Given the description of an element on the screen output the (x, y) to click on. 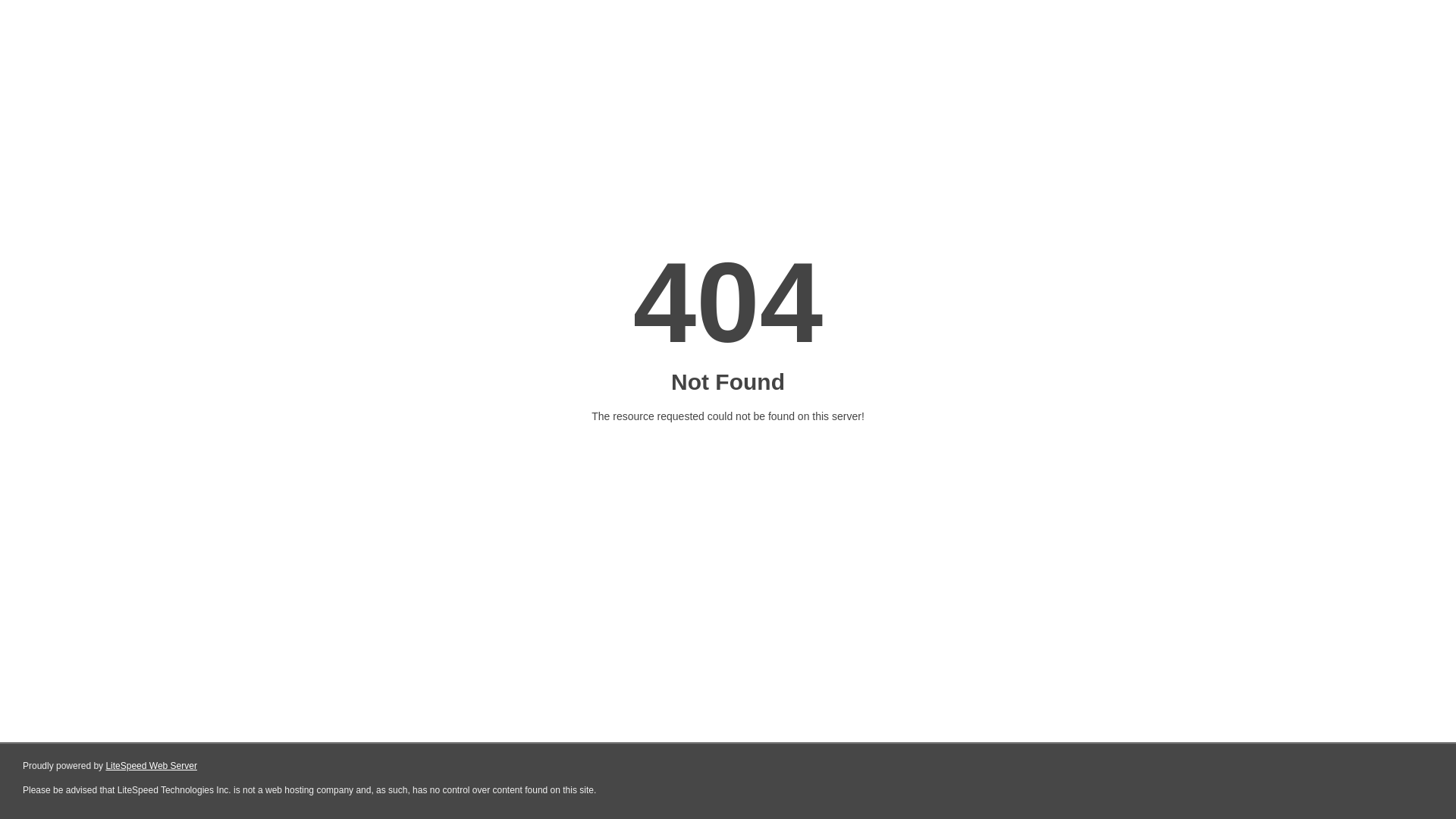
LiteSpeed Web Server Element type: text (151, 765)
